Given the description of an element on the screen output the (x, y) to click on. 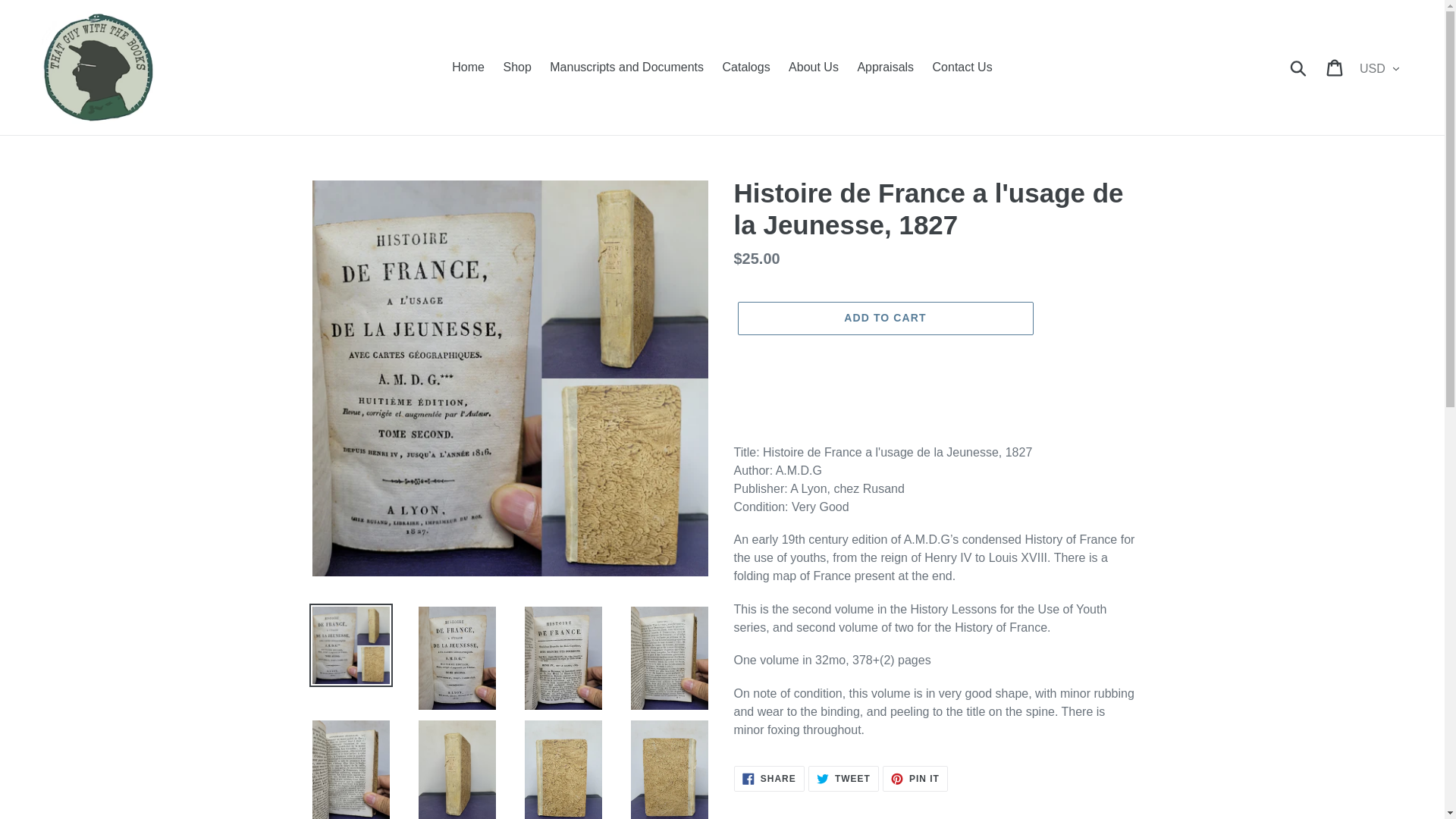
Catalogs (769, 778)
Appraisals (745, 67)
Home (884, 67)
Manuscripts and Documents (468, 67)
Shop (626, 67)
Cart (516, 67)
Contact Us (1335, 67)
ADD TO CART (962, 67)
Submit (884, 318)
